Given the description of an element on the screen output the (x, y) to click on. 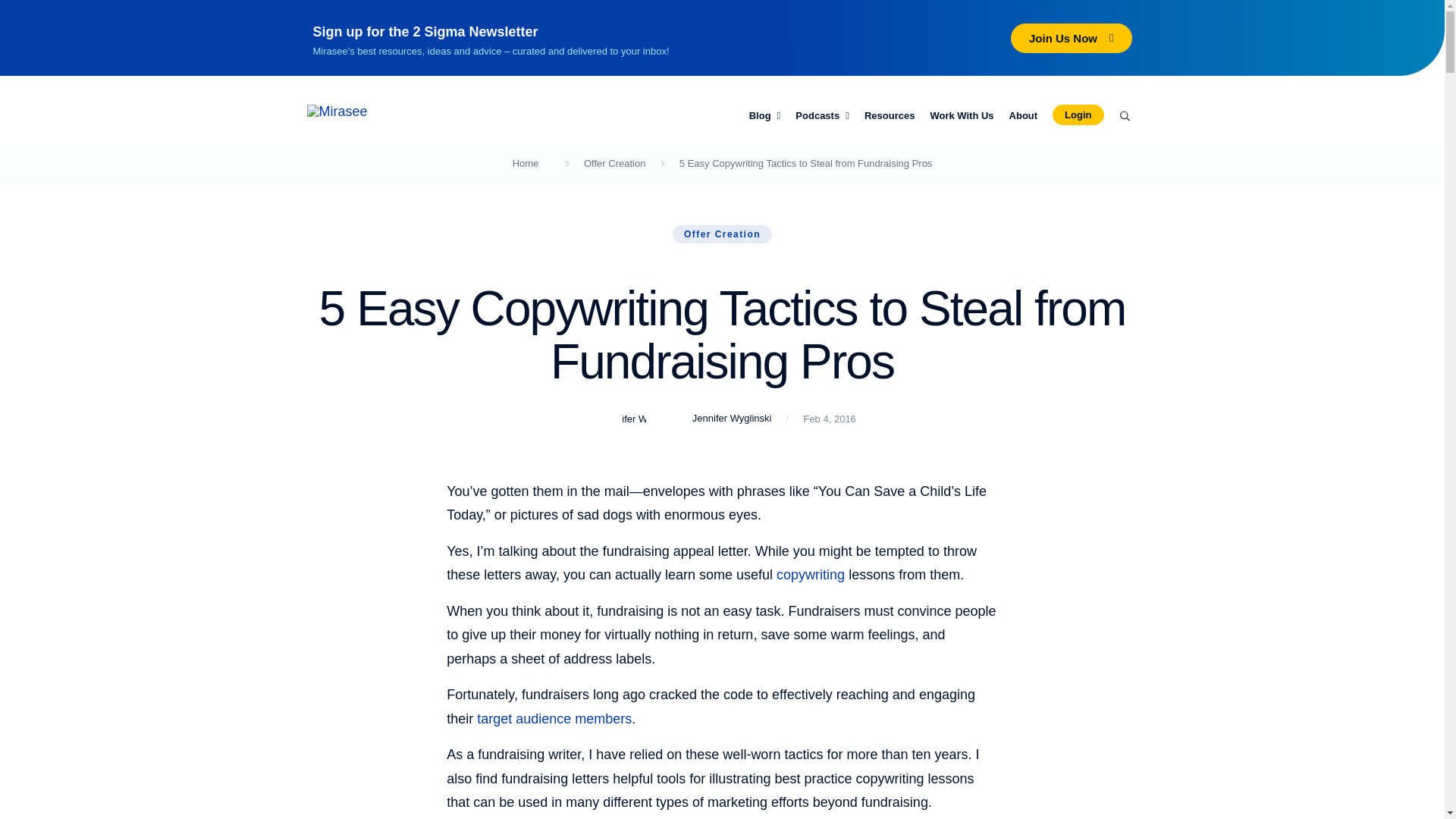
Work With Us (961, 115)
Offer Creation (721, 234)
Join Us Now (1071, 37)
copywriting (810, 574)
Offer Creation (614, 163)
Podcasts (821, 115)
About (1023, 115)
Home (525, 163)
Resources (889, 115)
Blog (764, 115)
Login (1077, 115)
target audience members (554, 718)
